Given the description of an element on the screen output the (x, y) to click on. 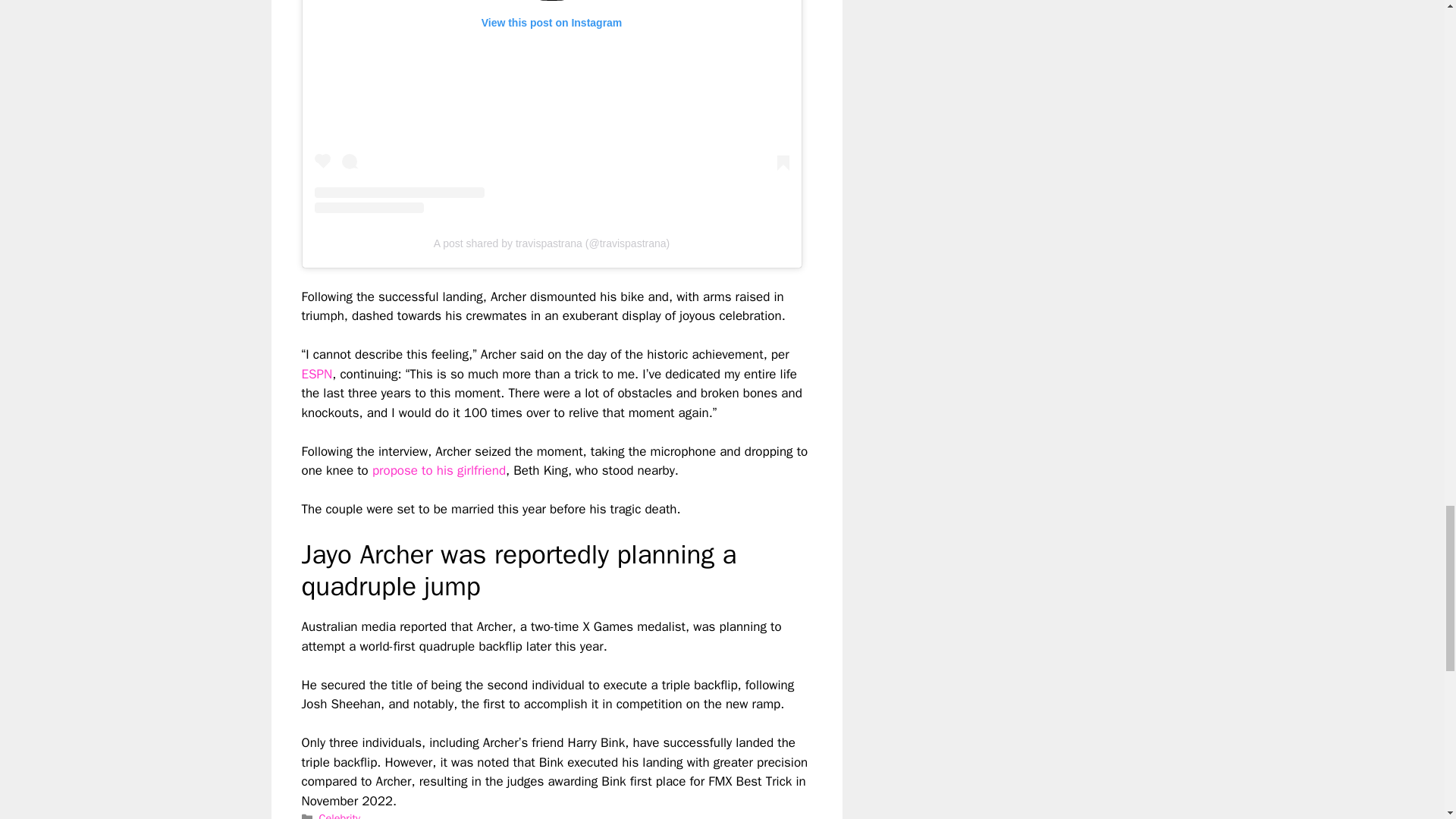
ESPN (317, 374)
Celebrity (338, 815)
propose to his girlfriend (438, 470)
View this post on Instagram (551, 106)
